Given the description of an element on the screen output the (x, y) to click on. 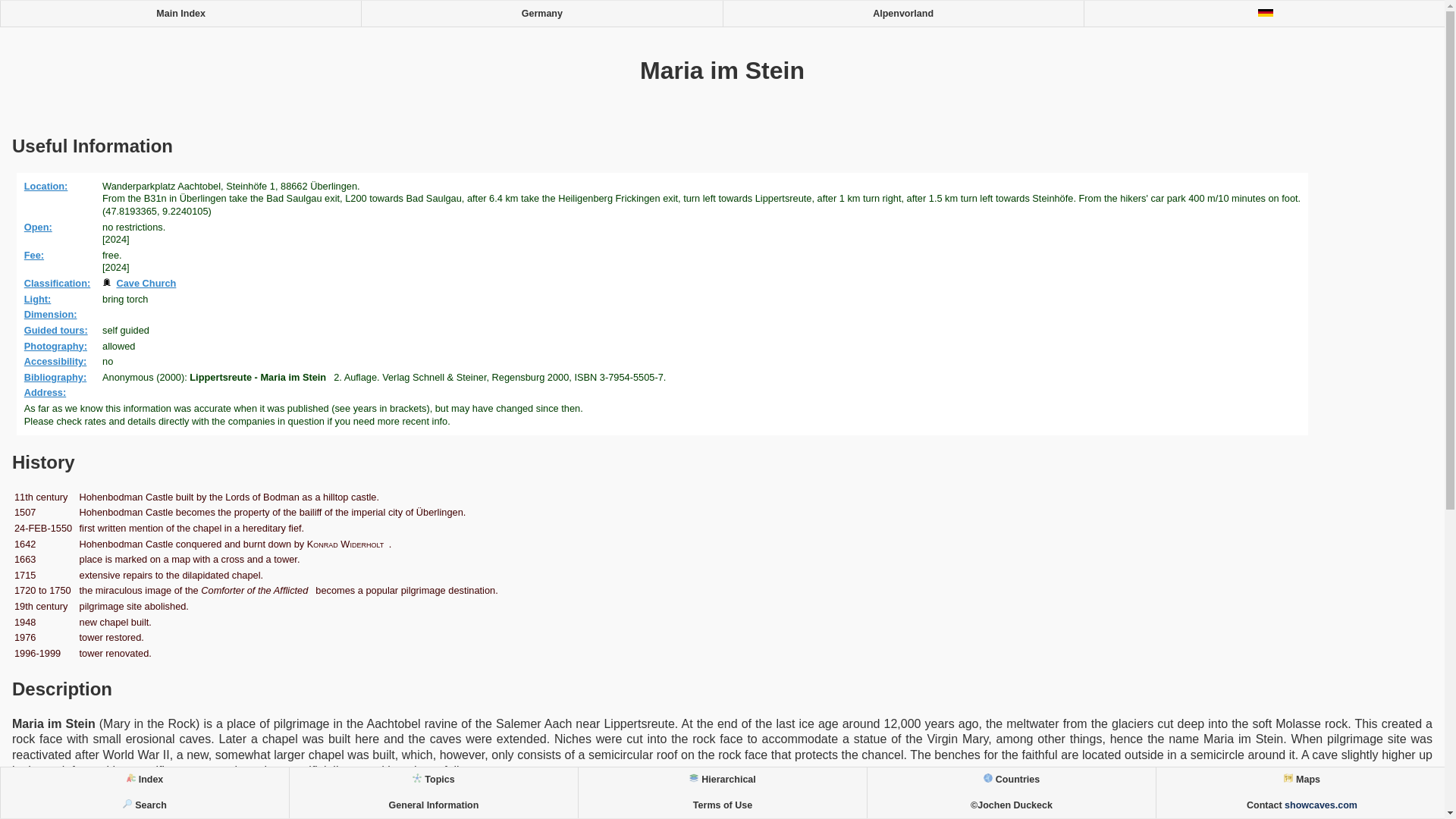
Location: (48, 185)
Guided tours: (58, 329)
Light: (40, 298)
Photography: (58, 346)
Main Index (180, 13)
Dimension: (52, 314)
Alpenvorland (902, 13)
Bibliography: (57, 377)
Hierarchical (722, 780)
Accessibility: (57, 360)
